Given the description of an element on the screen output the (x, y) to click on. 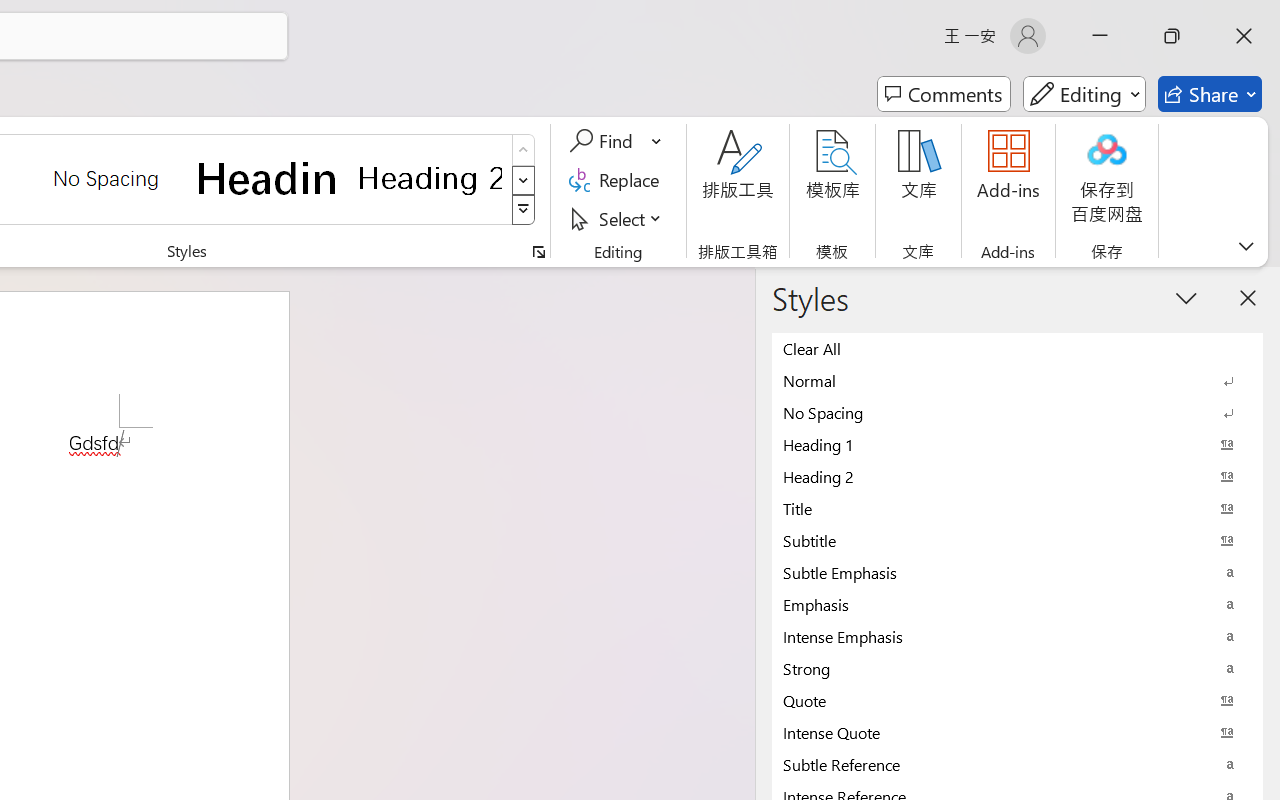
Task Pane Options (1186, 297)
No Spacing (1017, 412)
Heading 1 (267, 178)
Quote (1017, 700)
Heading 2 (429, 178)
Intense Emphasis (1017, 636)
Title (1017, 508)
Select (618, 218)
